Given the description of an element on the screen output the (x, y) to click on. 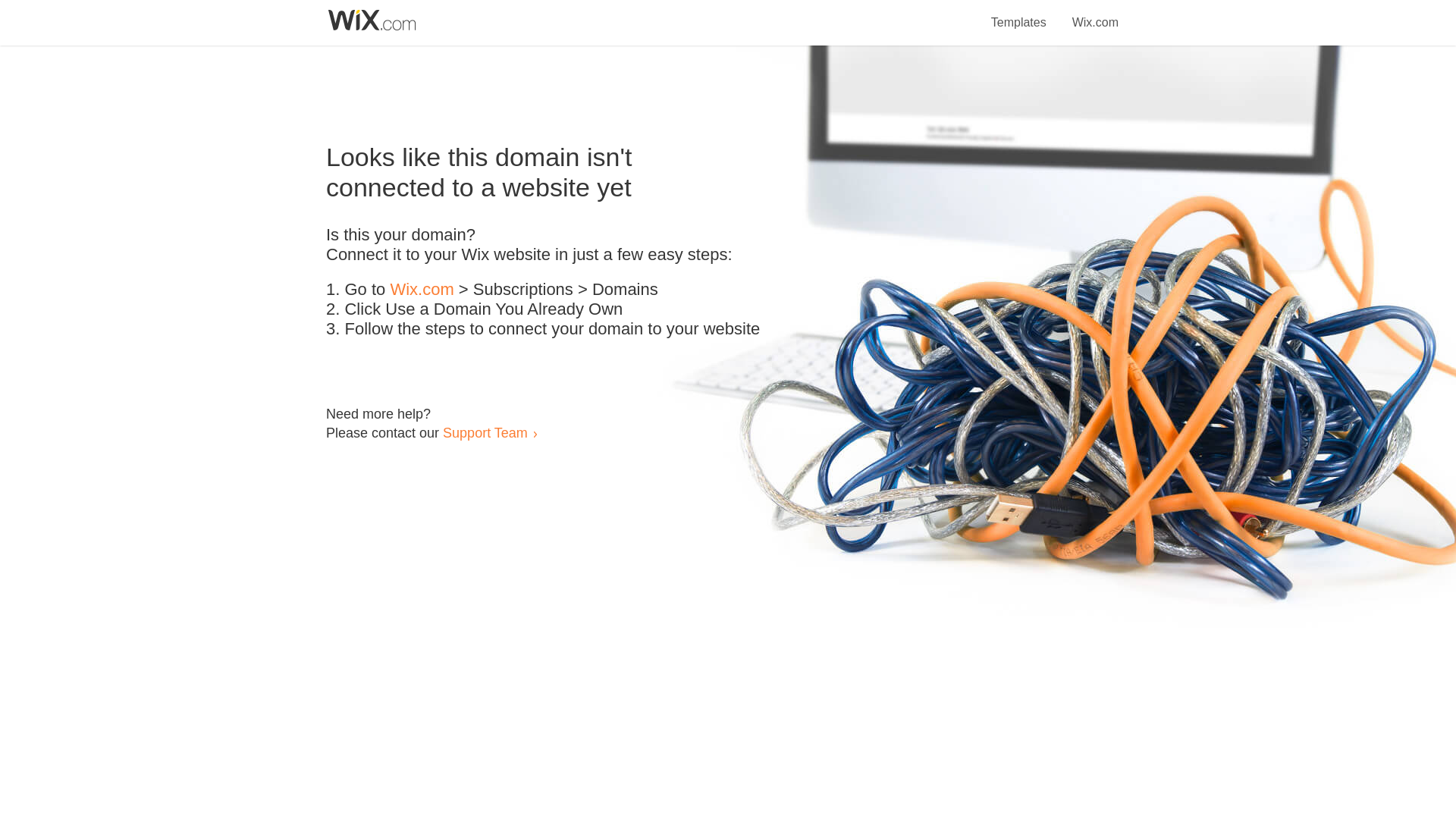
Wix.com (421, 289)
Wix.com (1095, 14)
Support Team (484, 432)
Templates (1018, 14)
